Given the description of an element on the screen output the (x, y) to click on. 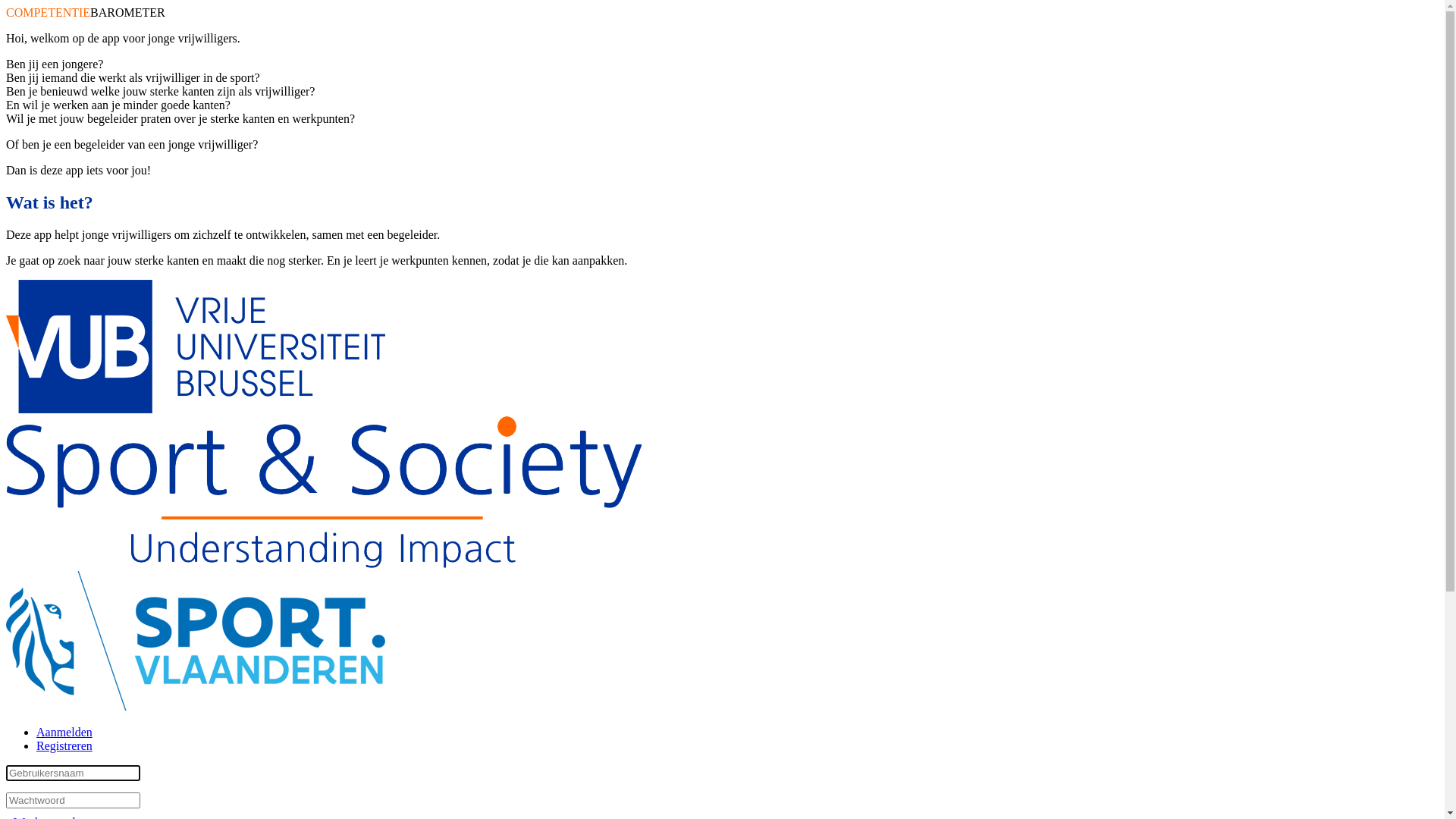
Sport & society Element type: hover (324, 491)
Gebruikersnaam Element type: hover (73, 773)
Naar de VUB website Element type: hover (195, 408)
Wachtwoord Element type: hover (73, 800)
Registreren Element type: text (64, 745)
Naar de sport and society website Element type: hover (324, 563)
Naar de Compart website Element type: hover (195, 705)
VUB Element type: hover (195, 346)
SportVlaanderen Element type: hover (195, 640)
Aanmelden Element type: text (64, 731)
